Given the description of an element on the screen output the (x, y) to click on. 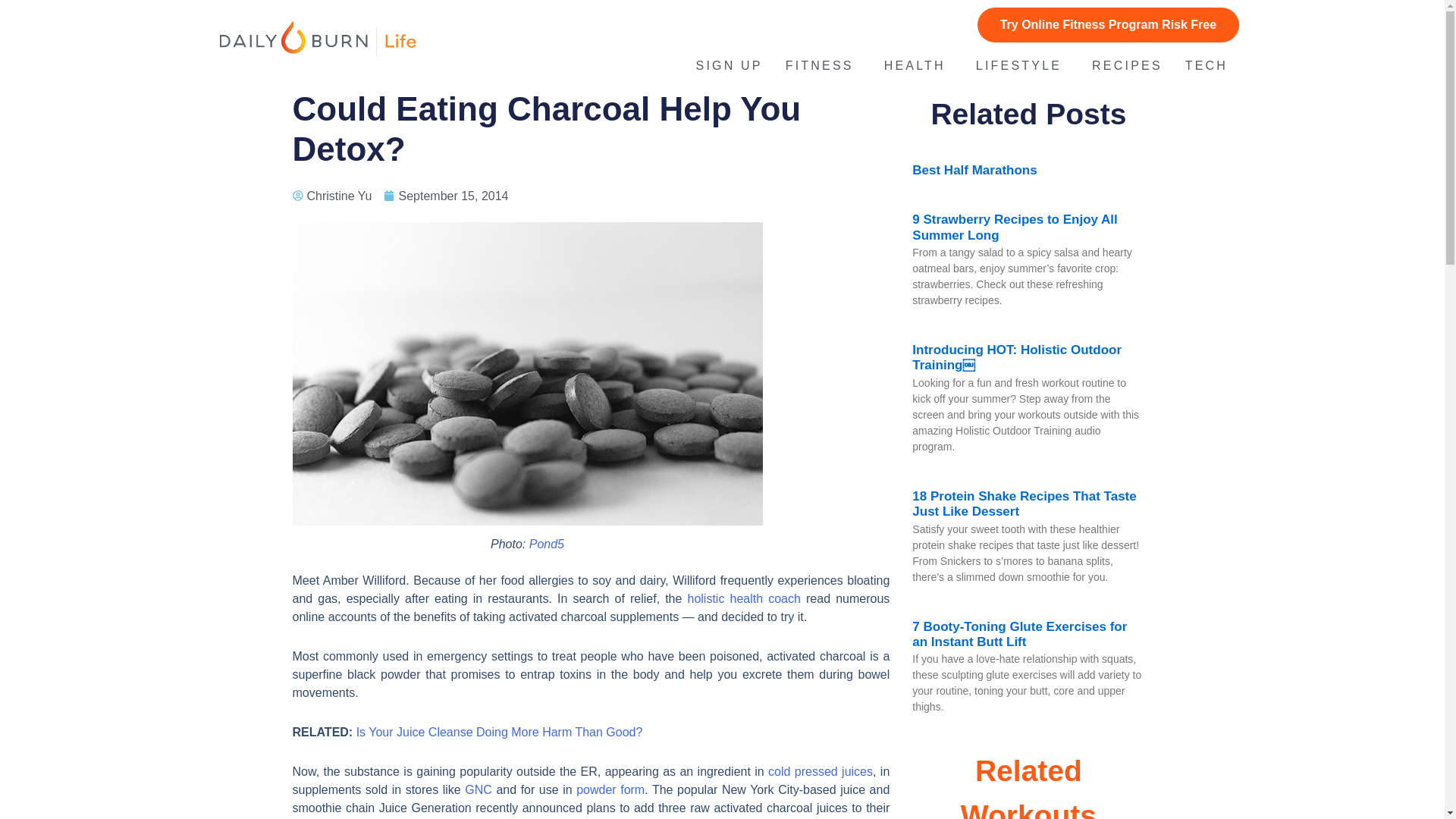
SIGN UP (729, 65)
Try Online Fitness Program Risk Free (1107, 24)
HEALTH (918, 65)
TECH (1210, 65)
RECIPES (1127, 65)
LIFESTYLE (1022, 65)
FITNESS (823, 65)
